Given the description of an element on the screen output the (x, y) to click on. 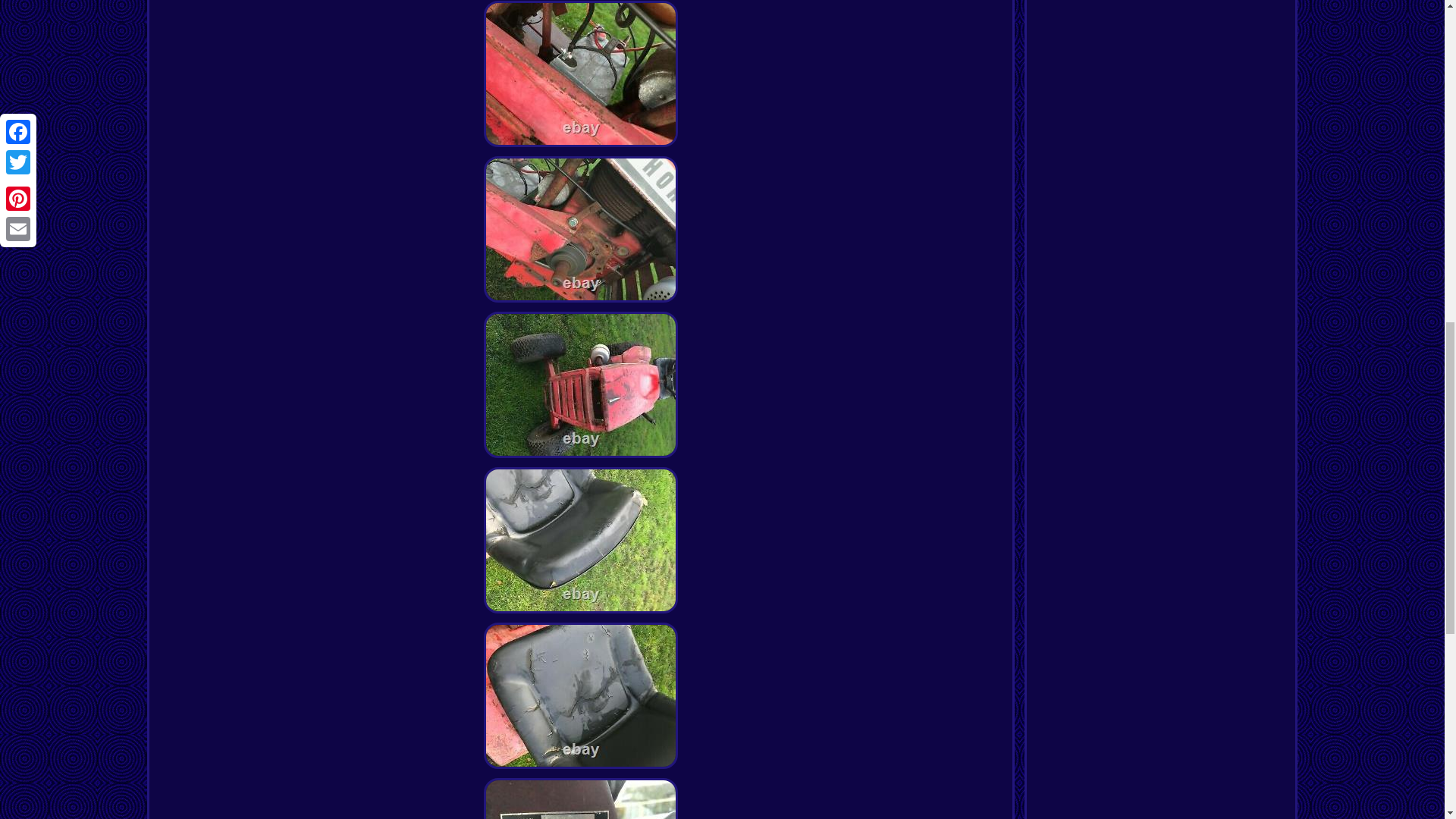
Wheelhorse Garden Tractor Raider 12 Paddock Tractor Running (580, 384)
Wheelhorse Garden Tractor Raider 12 Paddock Tractor Running (580, 73)
Wheelhorse Garden Tractor Raider 12 Paddock Tractor Running (580, 229)
Wheelhorse Garden Tractor Raider 12 Paddock Tractor Running (580, 539)
Wheelhorse Garden Tractor Raider 12 Paddock Tractor Running (580, 695)
Wheelhorse Garden Tractor Raider 12 Paddock Tractor Running (580, 798)
